Given the description of an element on the screen output the (x, y) to click on. 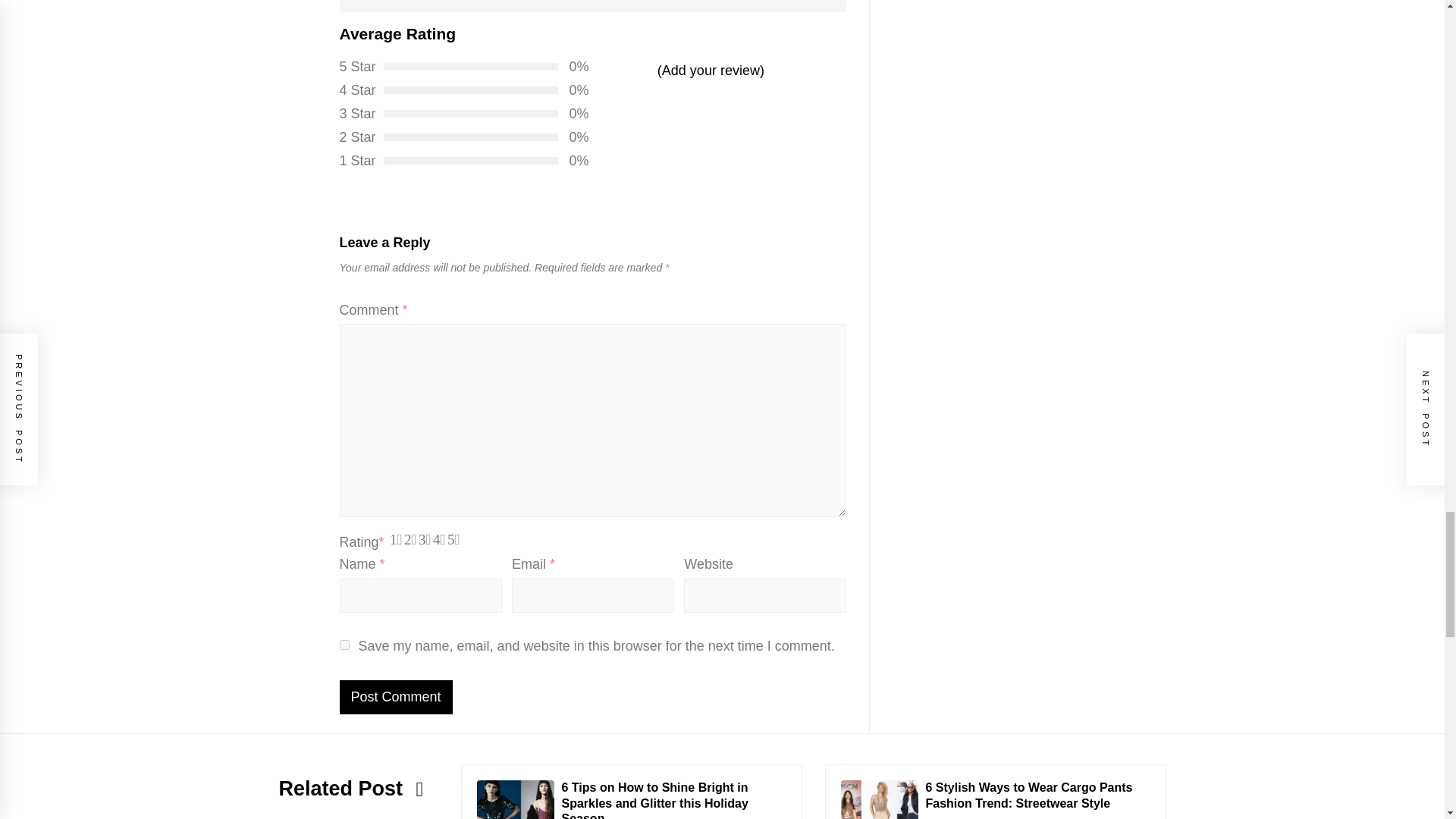
yes (344, 644)
Post Comment (395, 697)
Post Comment (395, 697)
